Given the description of an element on the screen output the (x, y) to click on. 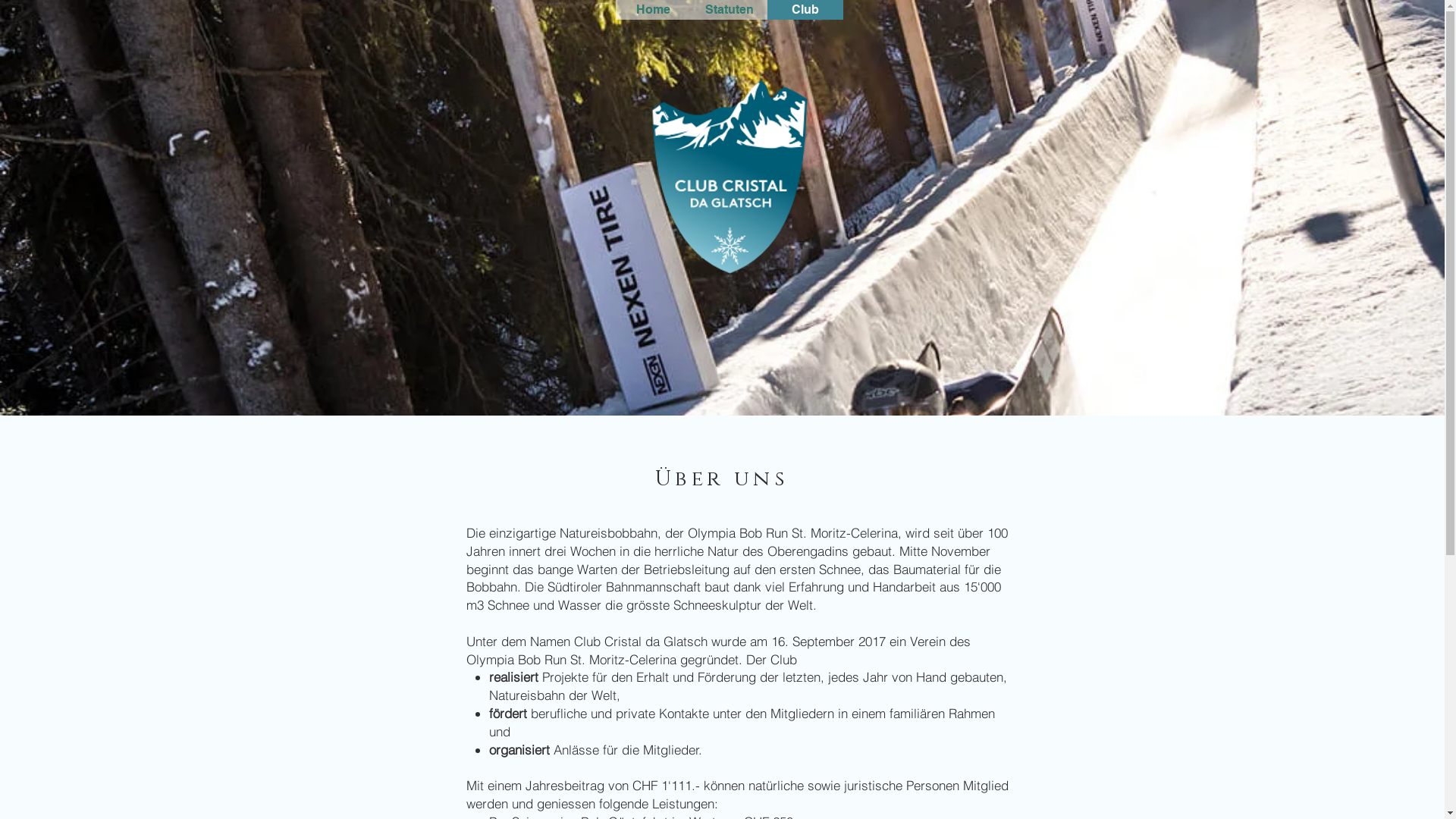
Home Element type: text (653, 9)
Club Element type: text (805, 9)
Statuten Element type: text (729, 9)
